Given the description of an element on the screen output the (x, y) to click on. 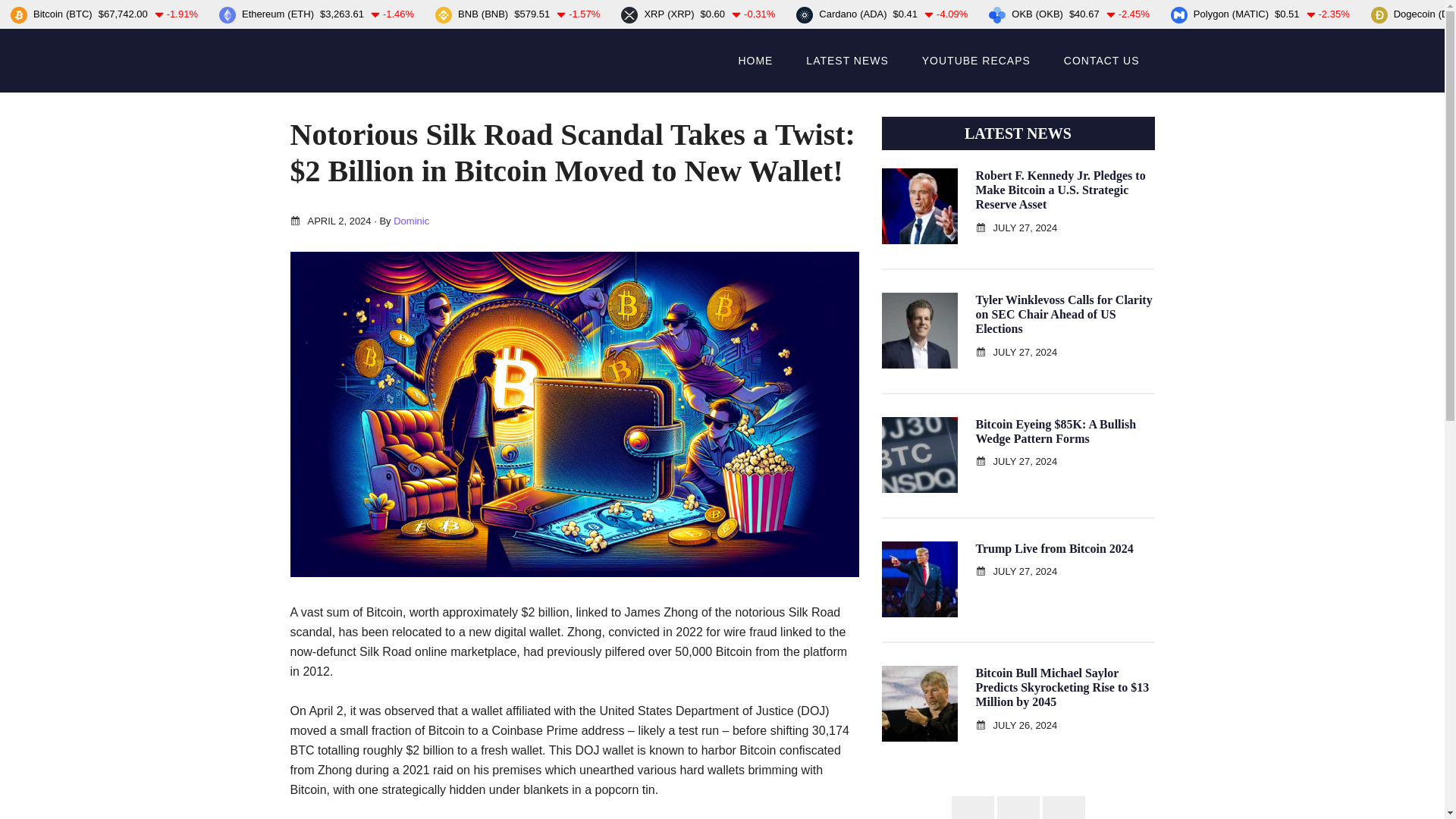
Trump Live from Bitcoin 2024 (1053, 548)
CONTACT US (1101, 60)
Dominic (411, 220)
LATEST NEWS (847, 60)
HOME (754, 60)
YOUTUBE RECAPS (976, 60)
